Given the description of an element on the screen output the (x, y) to click on. 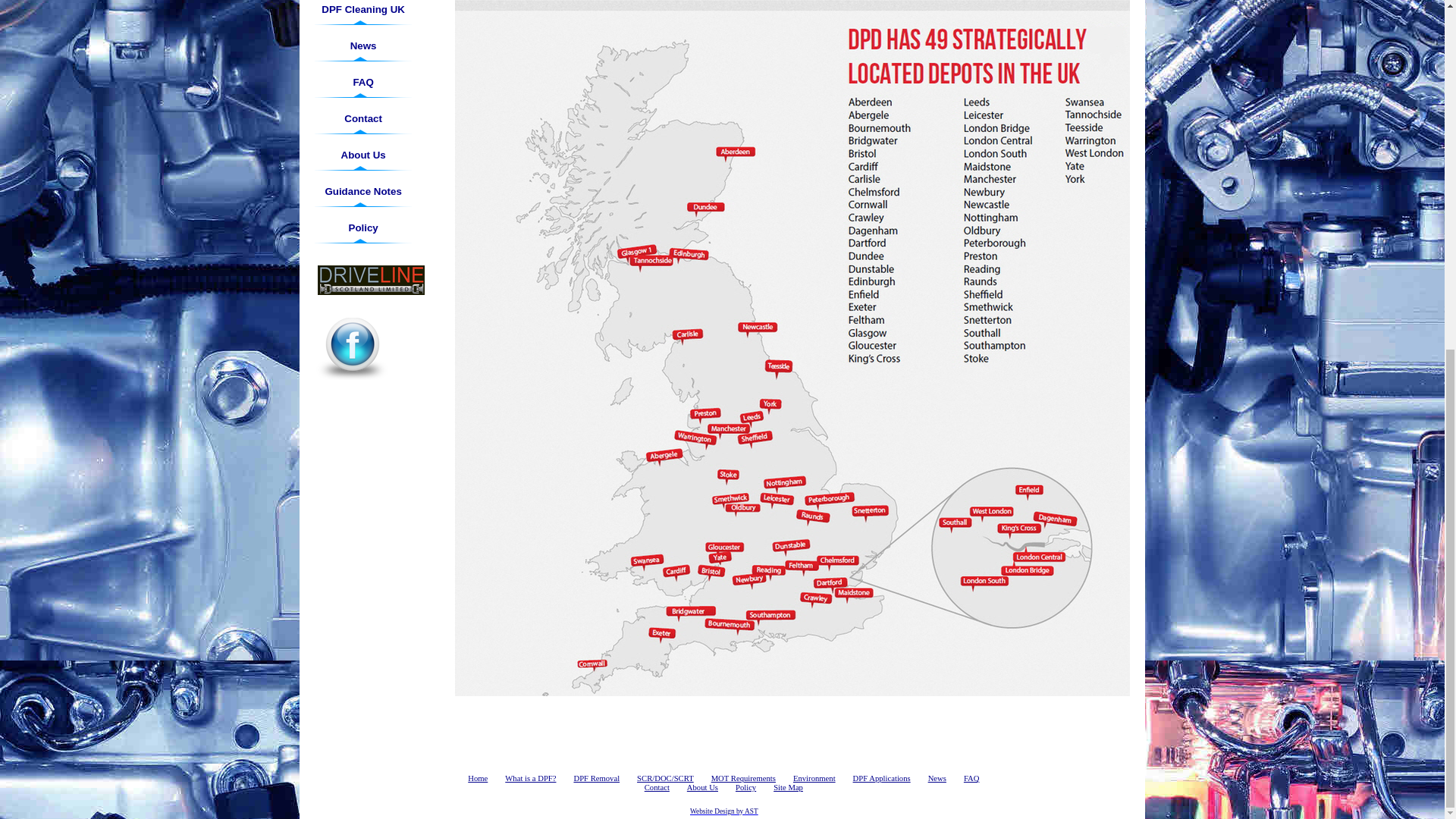
News (937, 777)
MOT Requirements (743, 777)
News (363, 45)
Contact (657, 786)
Environment (814, 777)
About Us (363, 154)
What is a DPF? (530, 777)
FAQ (363, 81)
Policy (745, 786)
Facebook Link (352, 345)
DPF Applications (882, 777)
Website Design by AST (724, 809)
Guidance Notes (363, 191)
DPF Cleaning UK (363, 9)
FAQ (971, 777)
